Given the description of an element on the screen output the (x, y) to click on. 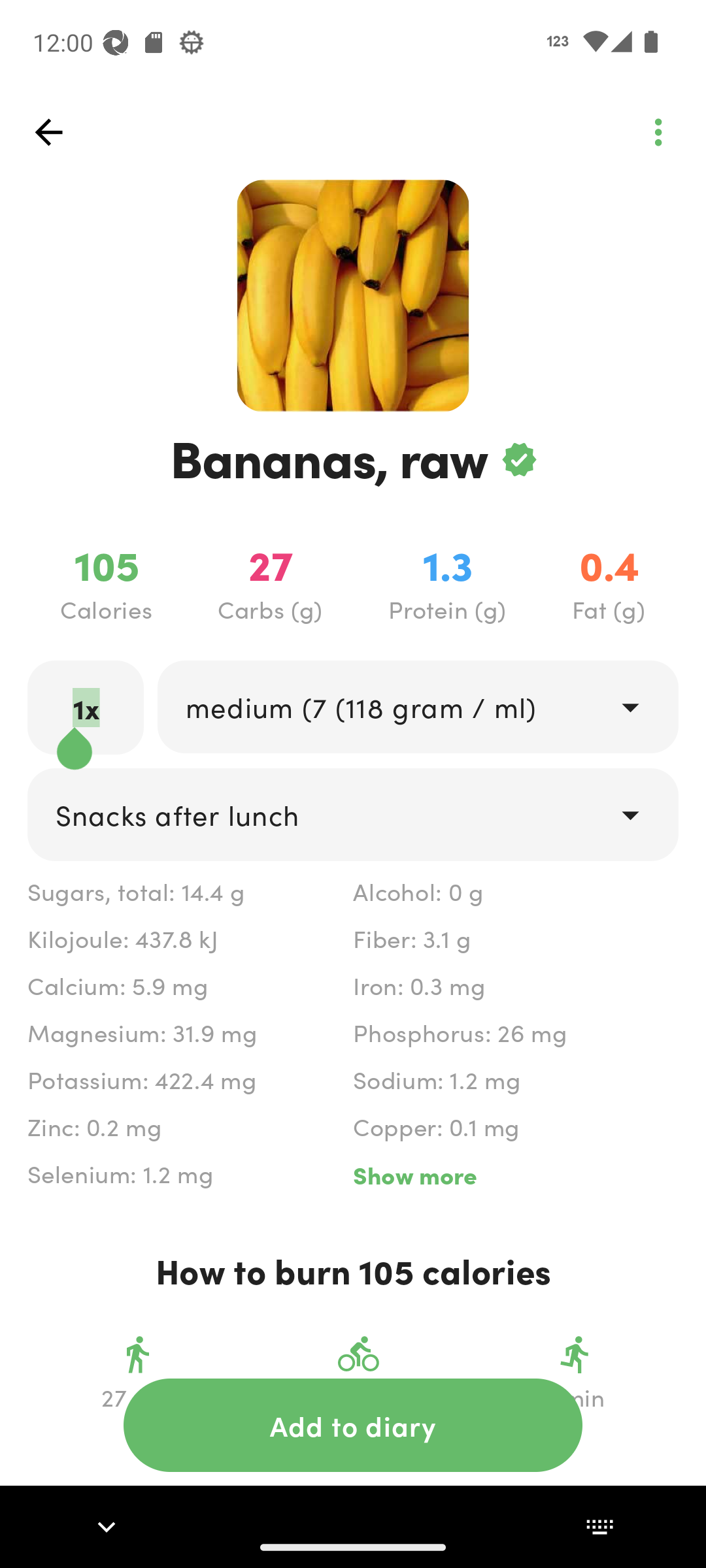
top_left_action (48, 132)
top_left_action (658, 132)
1x labeled_edit_text (85, 707)
drop_down medium (7 (118 gram / ml) (417, 706)
drop_down Snacks after lunch (352, 814)
Show more (515, 1174)
action_button Add to diary (352, 1425)
